Given the description of an element on the screen output the (x, y) to click on. 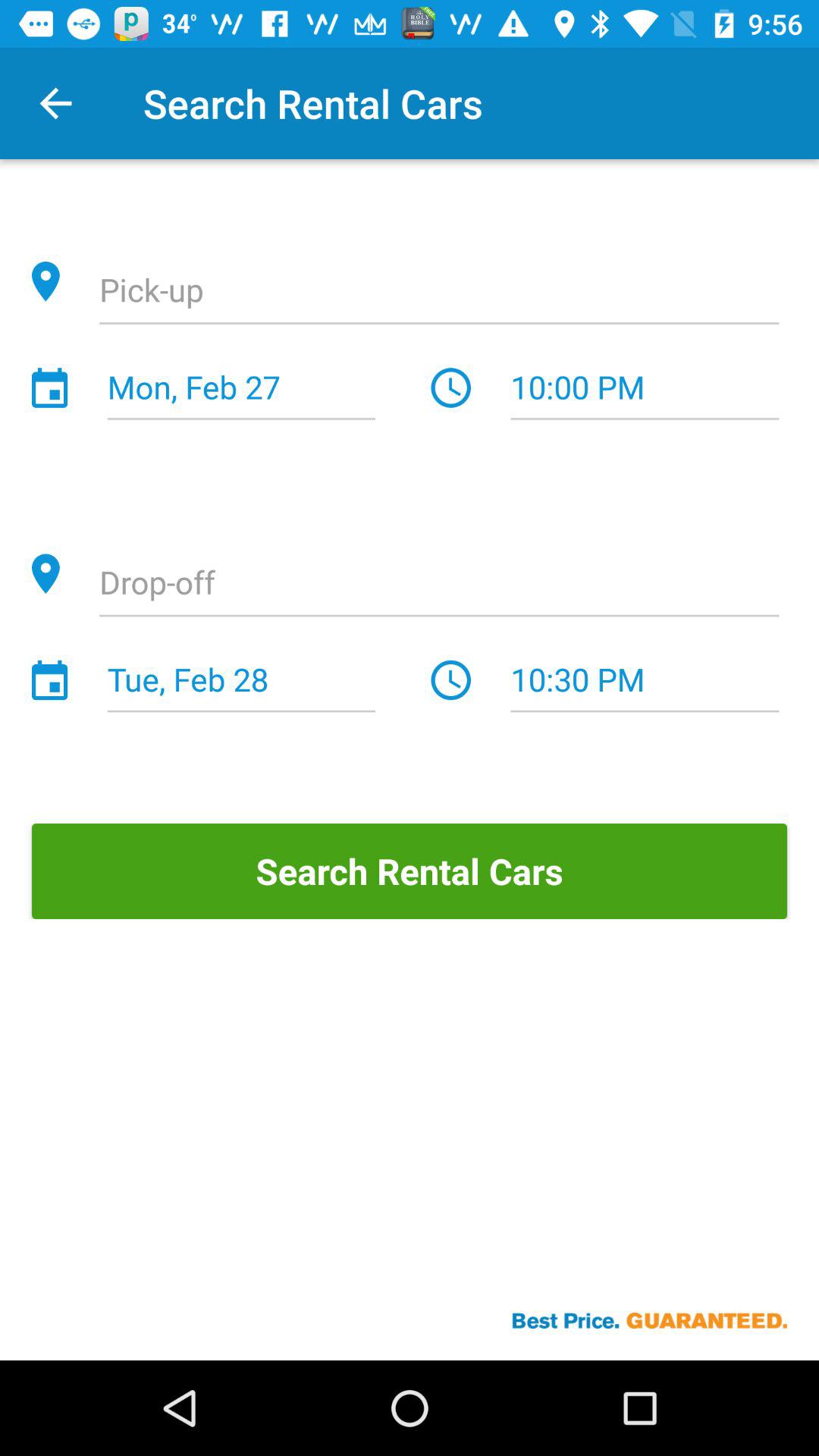
select the item below the mon, feb 27 (439, 584)
